Given the description of an element on the screen output the (x, y) to click on. 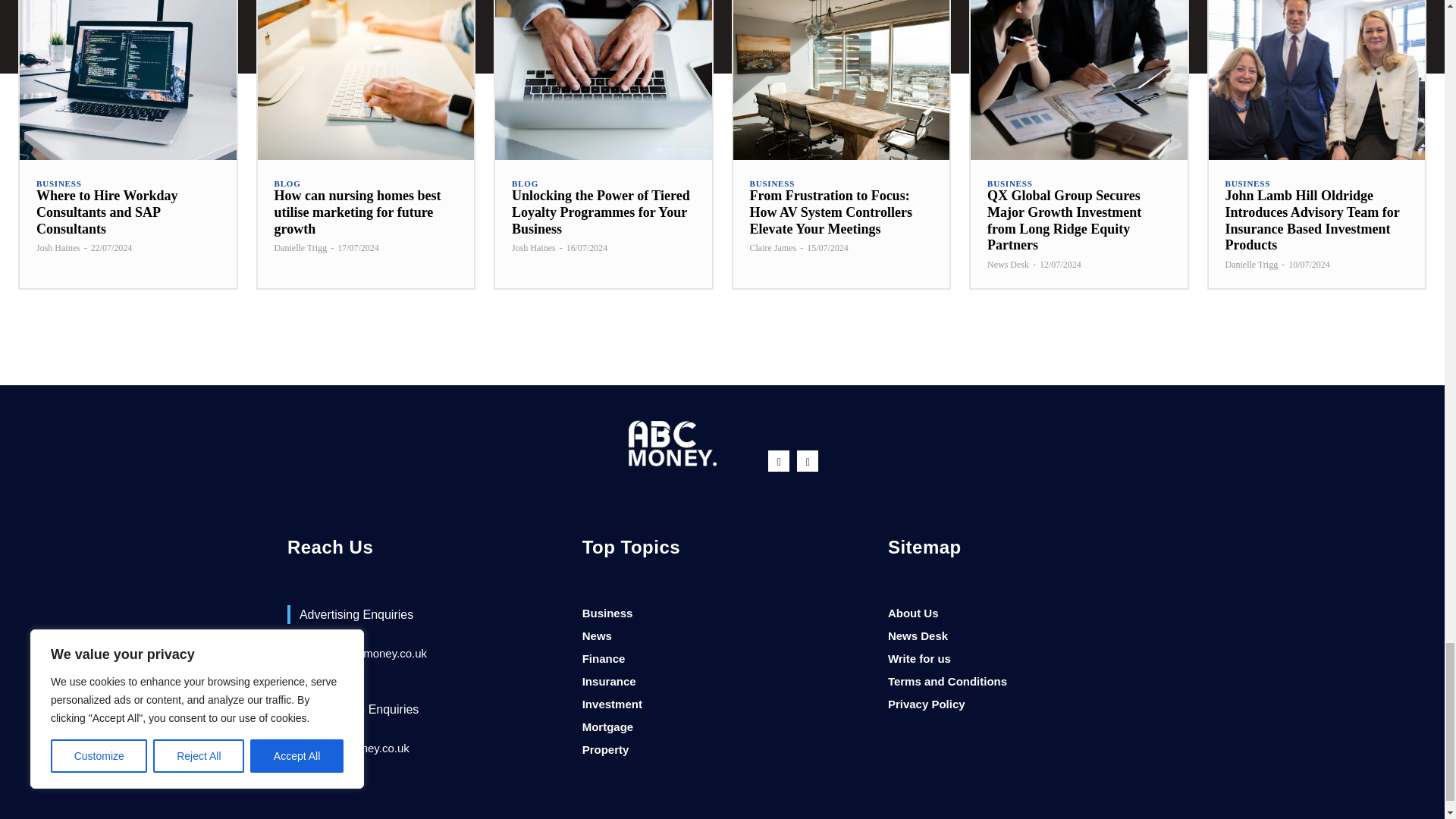
Where to Hire Workday Consultants and SAP Consultants (127, 79)
Where to Hire Workday Consultants and SAP Consultants (106, 211)
